Given the description of an element on the screen output the (x, y) to click on. 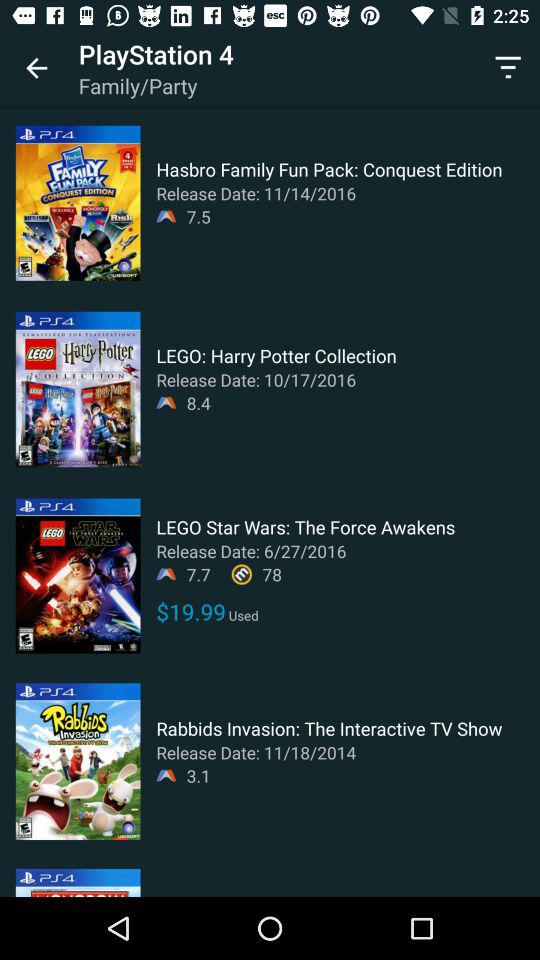
open icon at the top right corner (508, 67)
